Given the description of an element on the screen output the (x, y) to click on. 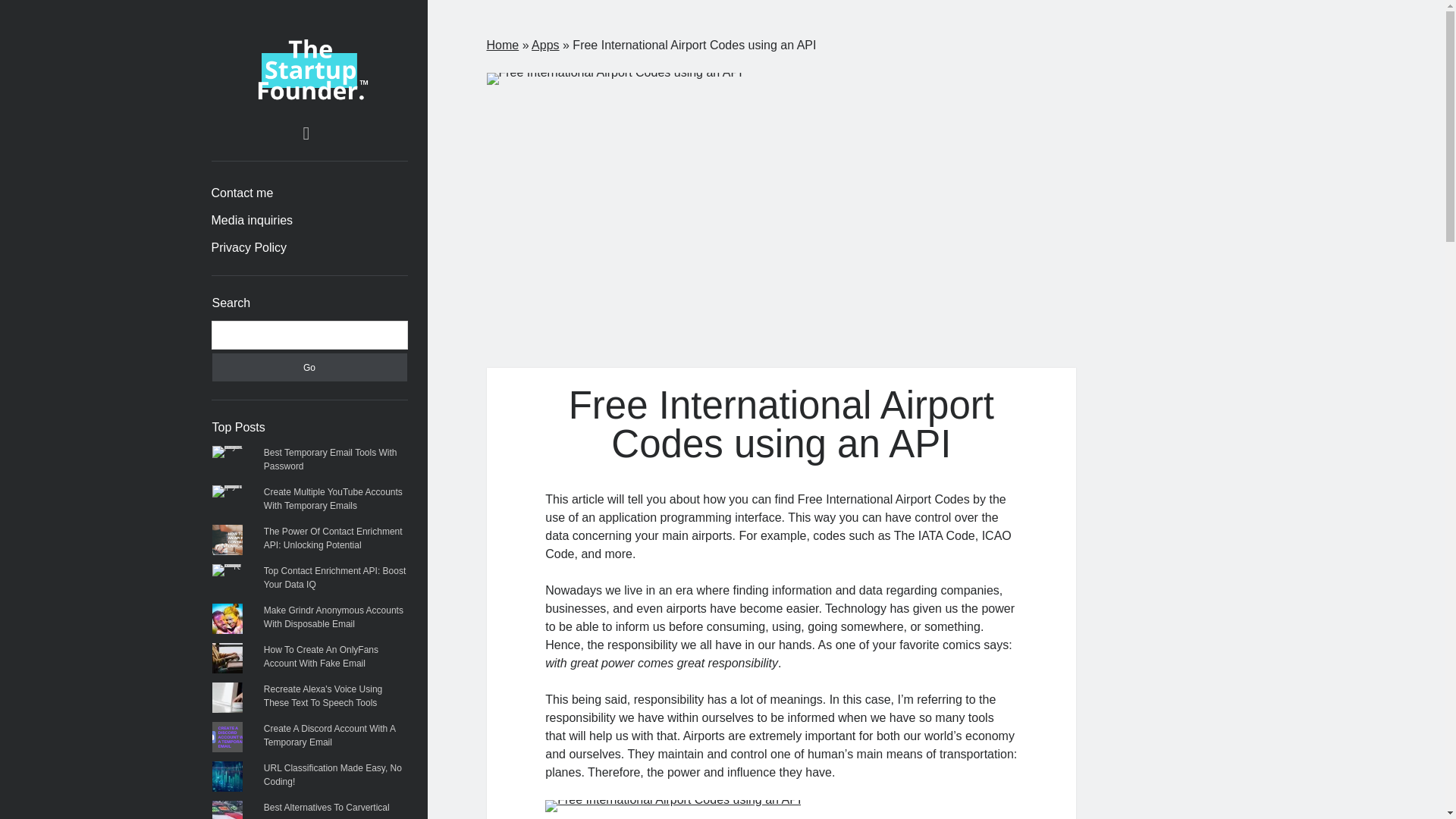
Go (309, 366)
Create Multiple YouTube Accounts With Temporary Emails (333, 498)
Recreate Alexa's Voice Using These Text To Speech Tools (322, 695)
Best Temporary Email Tools With Password (330, 459)
Best Alternatives To Carvertical (326, 807)
Create Multiple YouTube Accounts With Temporary Emails (333, 498)
Search for: (309, 334)
Go (309, 366)
Best Temporary Email Tools With Password (330, 459)
Top Contact Enrichment API: Boost Your Data IQ (334, 577)
